Given the description of an element on the screen output the (x, y) to click on. 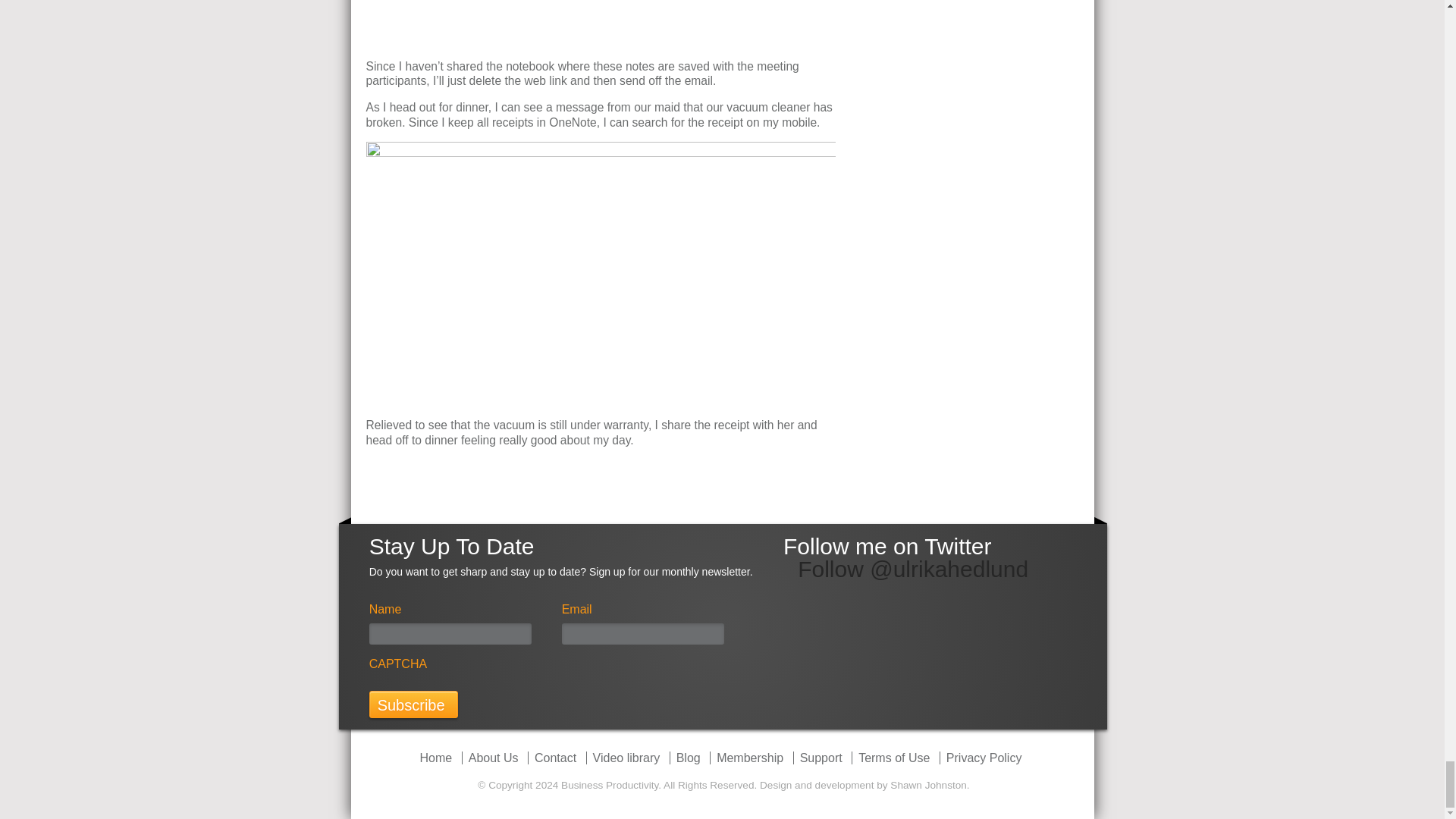
Subscribe (413, 704)
